Given the description of an element on the screen output the (x, y) to click on. 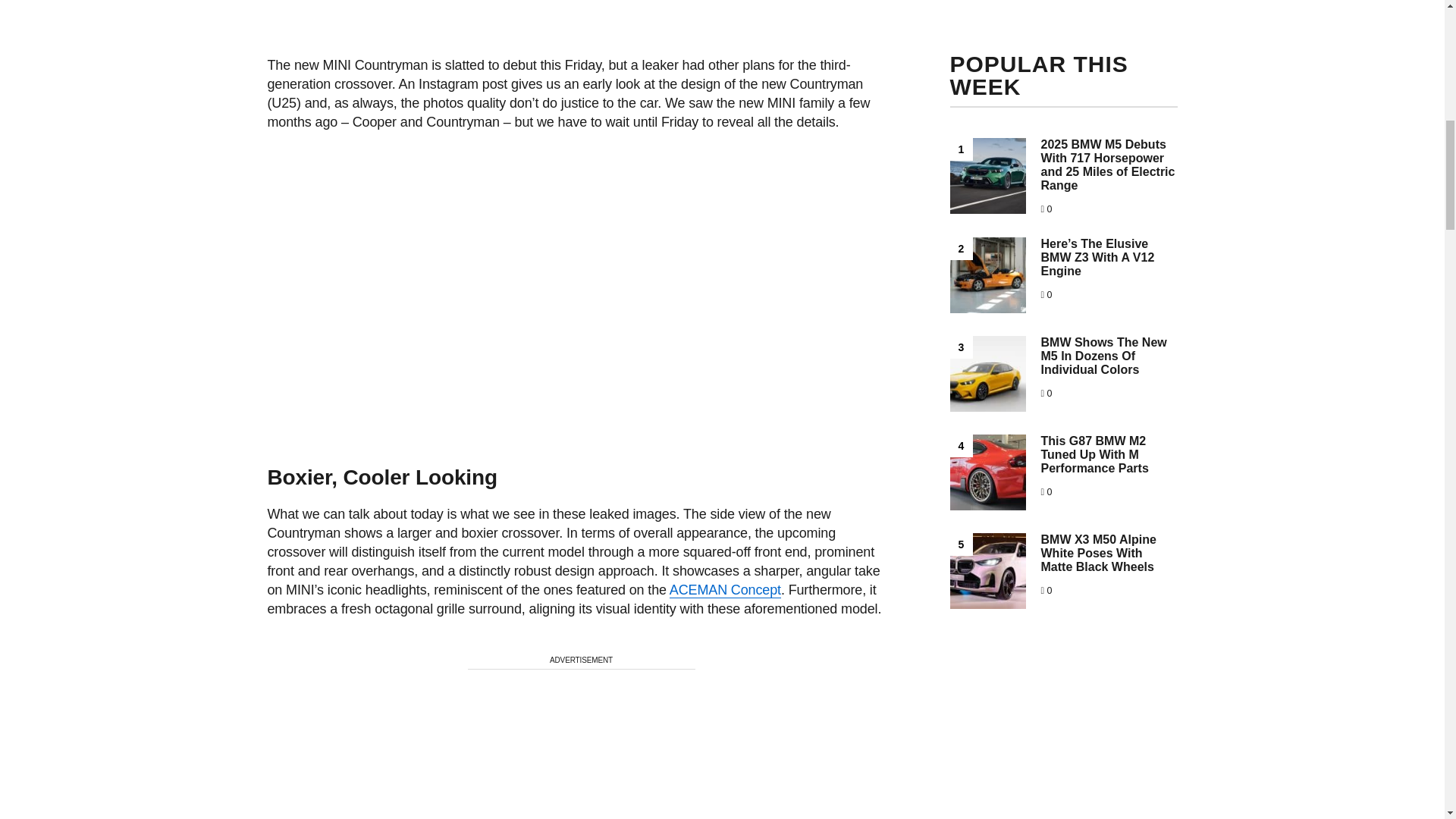
3rd party ad content (580, 5)
3rd party ad content (580, 748)
